Given the description of an element on the screen output the (x, y) to click on. 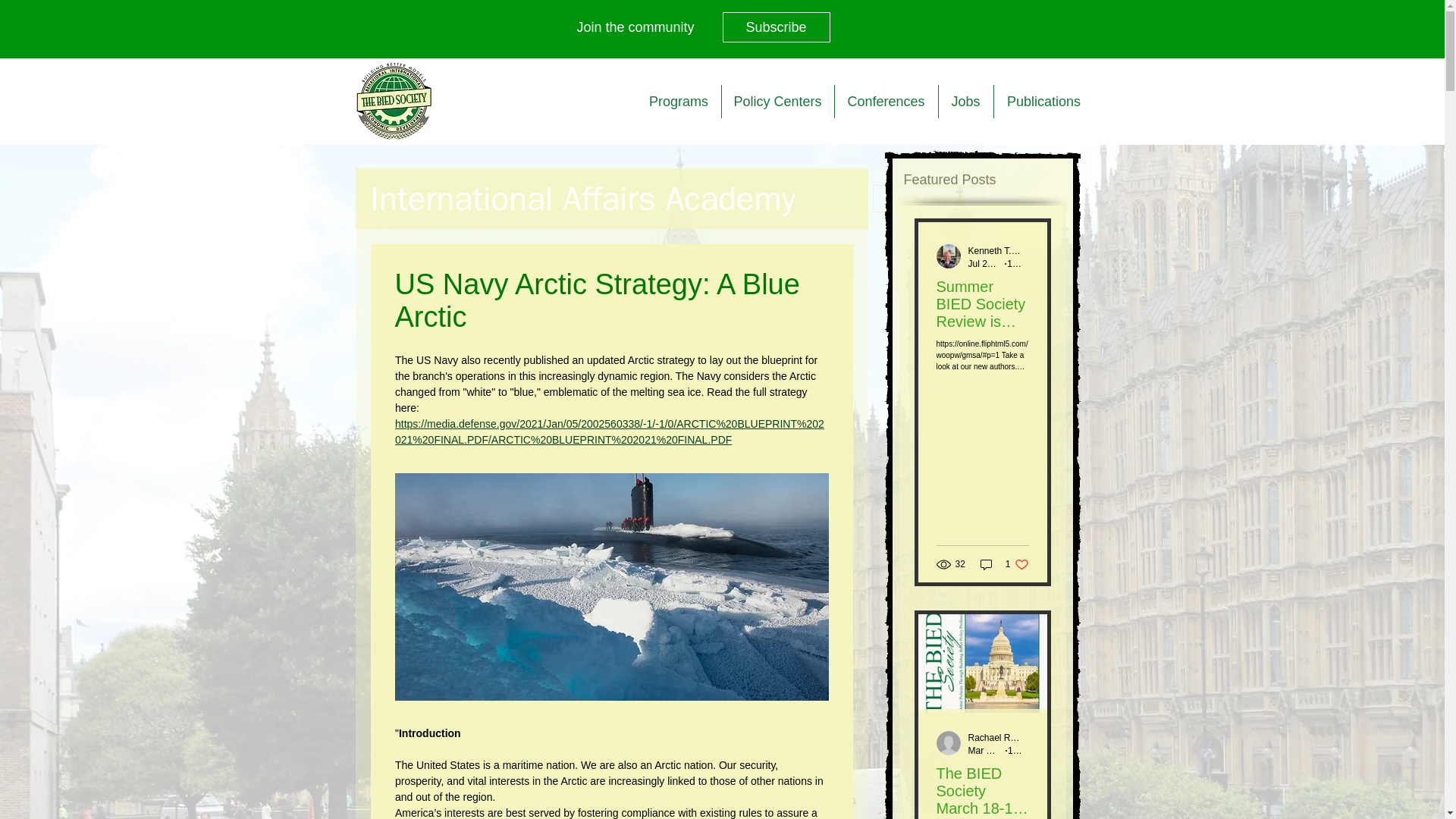
Policy Centers (778, 101)
Subscribe (775, 27)
Jul 22, 2023 (992, 262)
International Affairs Academy (581, 198)
Conferences (885, 101)
Jobs (965, 101)
Mar 18, 2023 (995, 749)
1 min (1018, 262)
Publications (1042, 101)
